Given the description of an element on the screen output the (x, y) to click on. 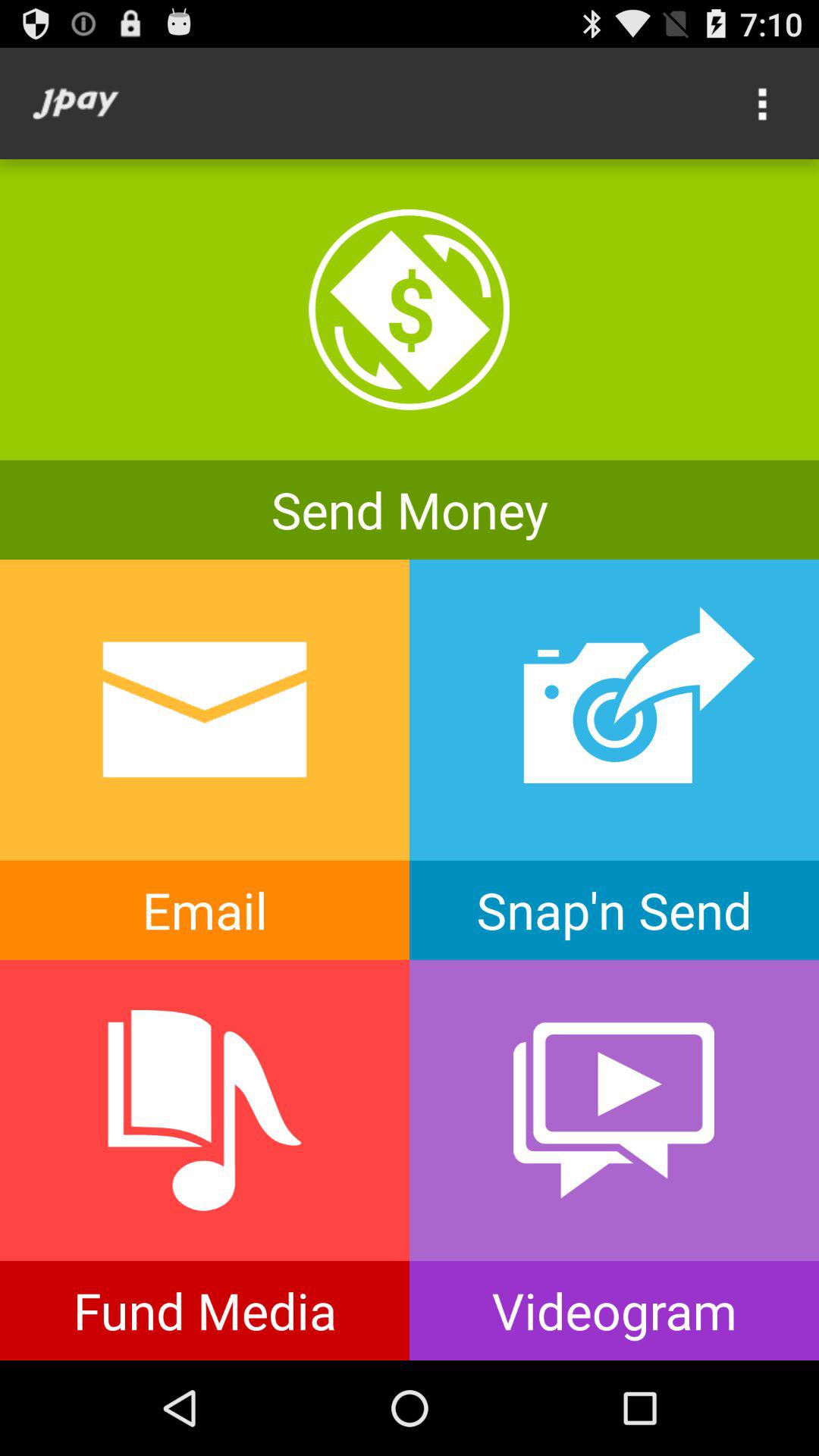
select item at the top right corner (763, 103)
